Given the description of an element on the screen output the (x, y) to click on. 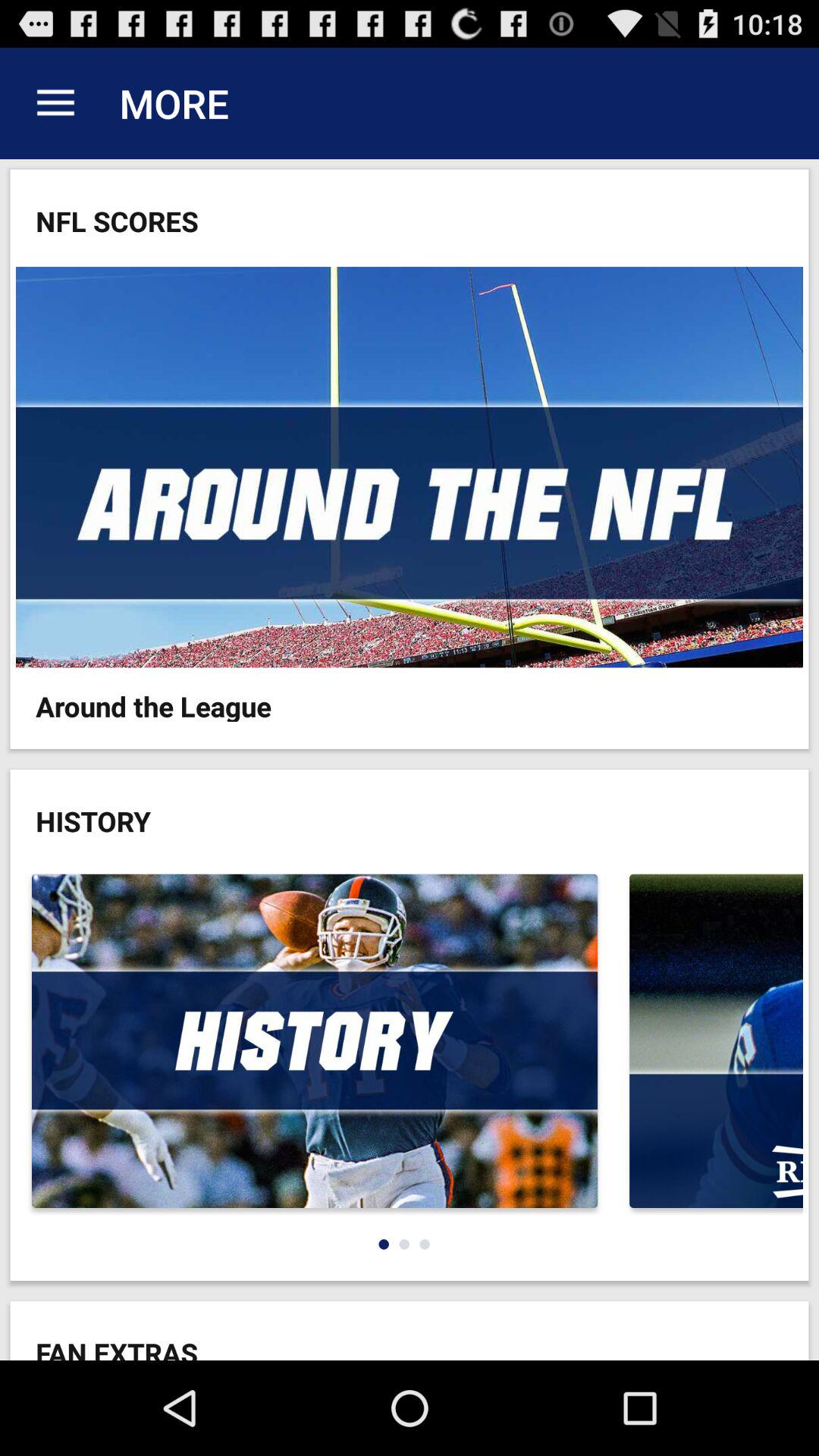
choose the icon to the left of more app (55, 103)
